Given the description of an element on the screen output the (x, y) to click on. 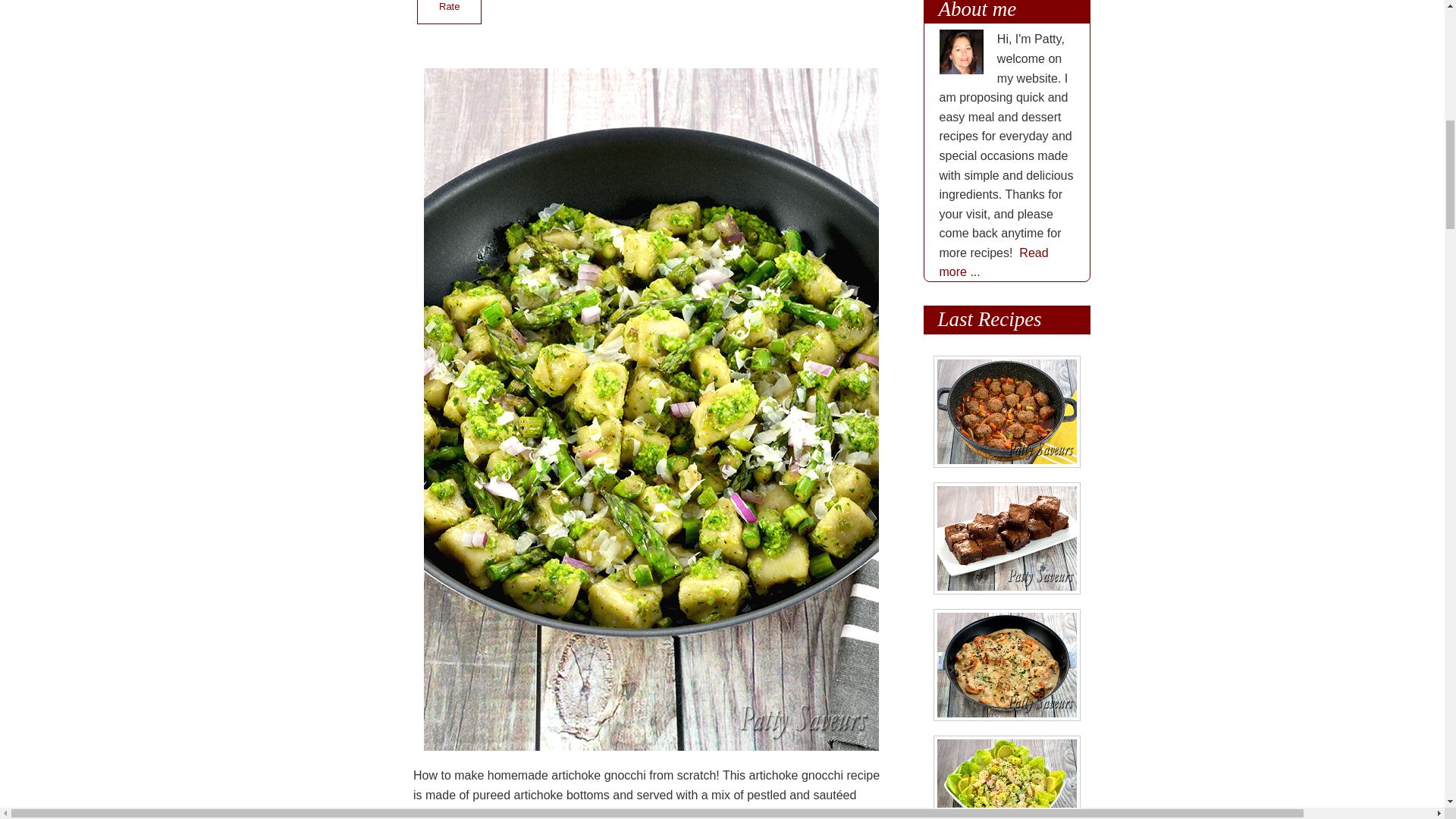
Rate (448, 12)
Rate (448, 12)
